Given the description of an element on the screen output the (x, y) to click on. 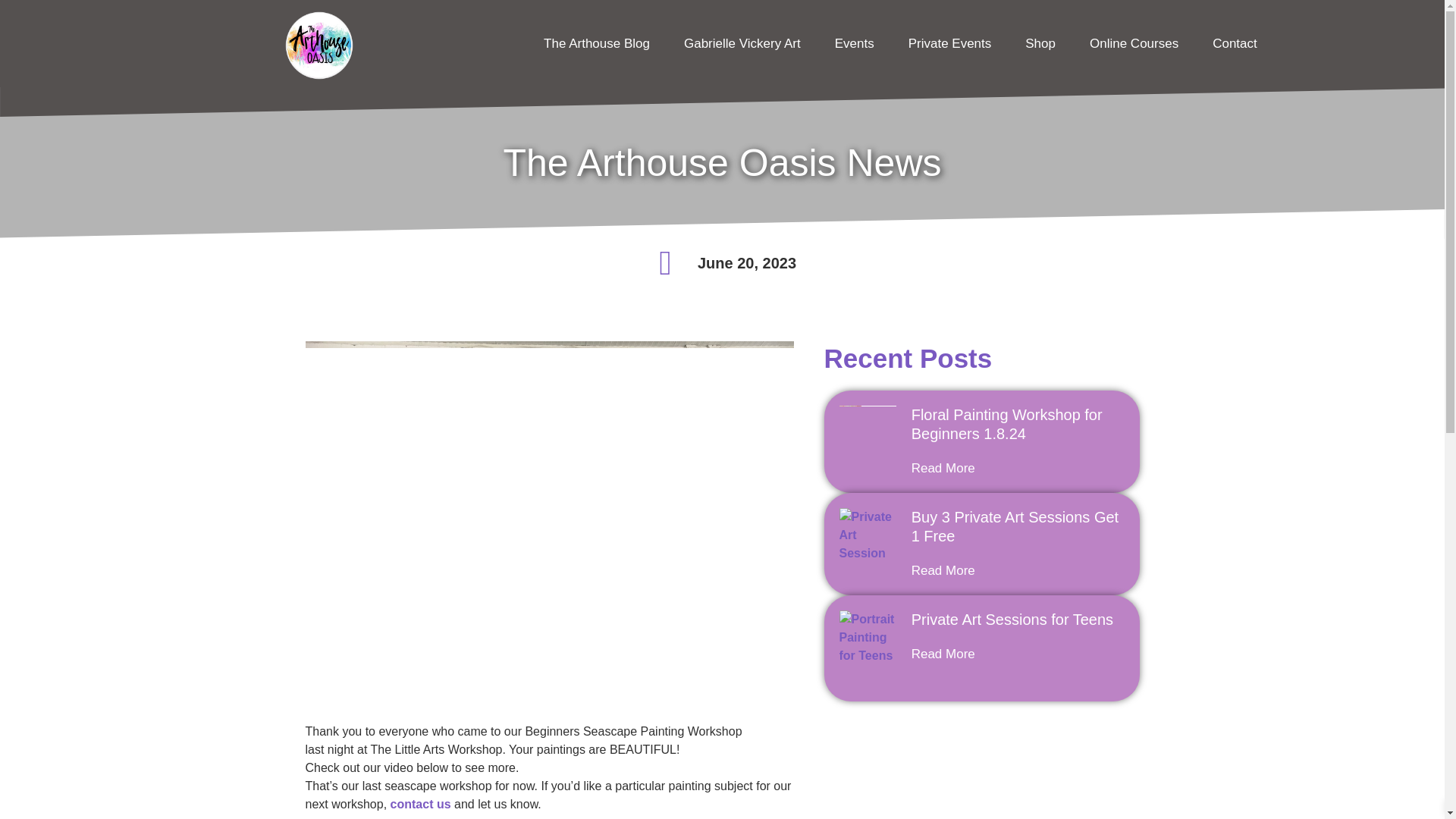
Private Events (950, 43)
Events (854, 43)
Shop (1040, 43)
The Arthouse Blog (596, 43)
contact us (420, 803)
Online Courses (1133, 43)
Contact (1234, 43)
Gabrielle Vickery Art (741, 43)
